Given the description of an element on the screen output the (x, y) to click on. 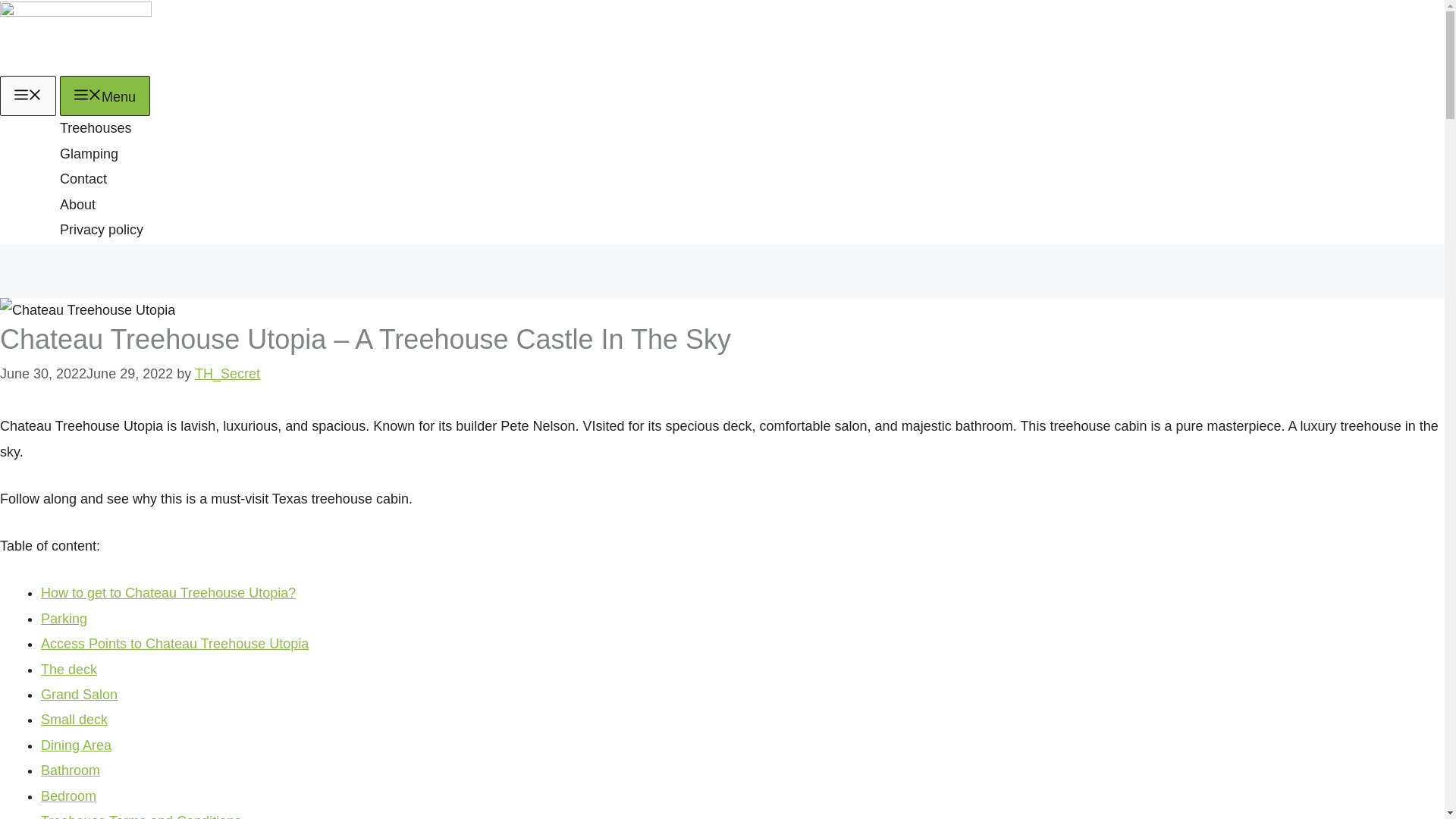
Parking (63, 618)
Contact (82, 178)
Treehouses (95, 127)
Treehouse Terms and Conditions (140, 816)
About (77, 204)
Small deck (73, 719)
Access Points to Chateau Treehouse Utopia (174, 643)
Menu (28, 96)
The deck (68, 669)
Bathroom (70, 770)
How to get to Chateau Treehouse Utopia? (167, 592)
Menu (104, 96)
Bedroom (68, 795)
Dining Area (76, 744)
Privacy policy (100, 229)
